Given the description of an element on the screen output the (x, y) to click on. 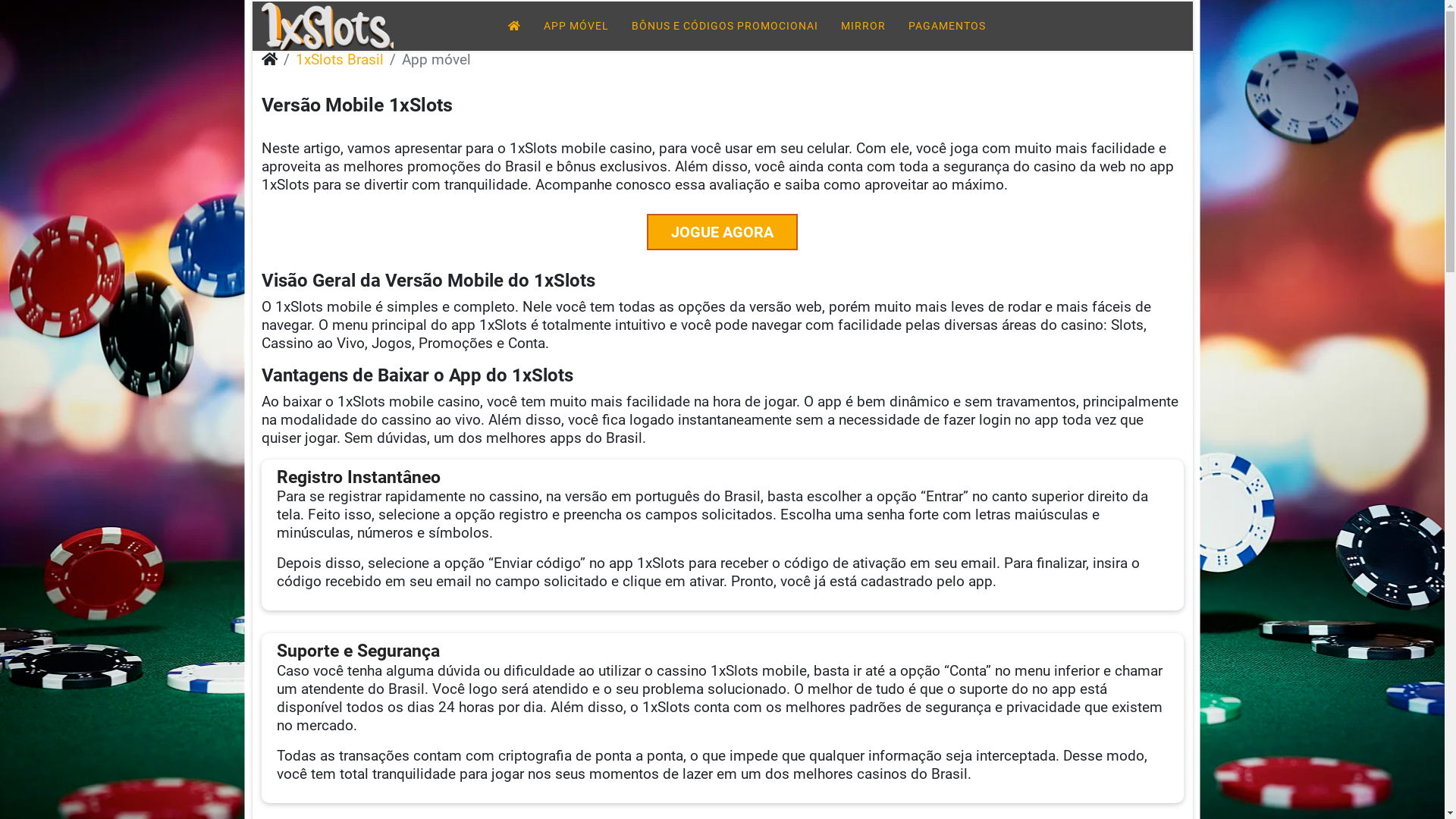
1xSlots Brasil Element type: text (339, 59)
MIRROR Element type: text (863, 25)
JOGUE AGORA Element type: text (721, 231)
PAGAMENTOS Element type: text (946, 25)
